Given the description of an element on the screen output the (x, y) to click on. 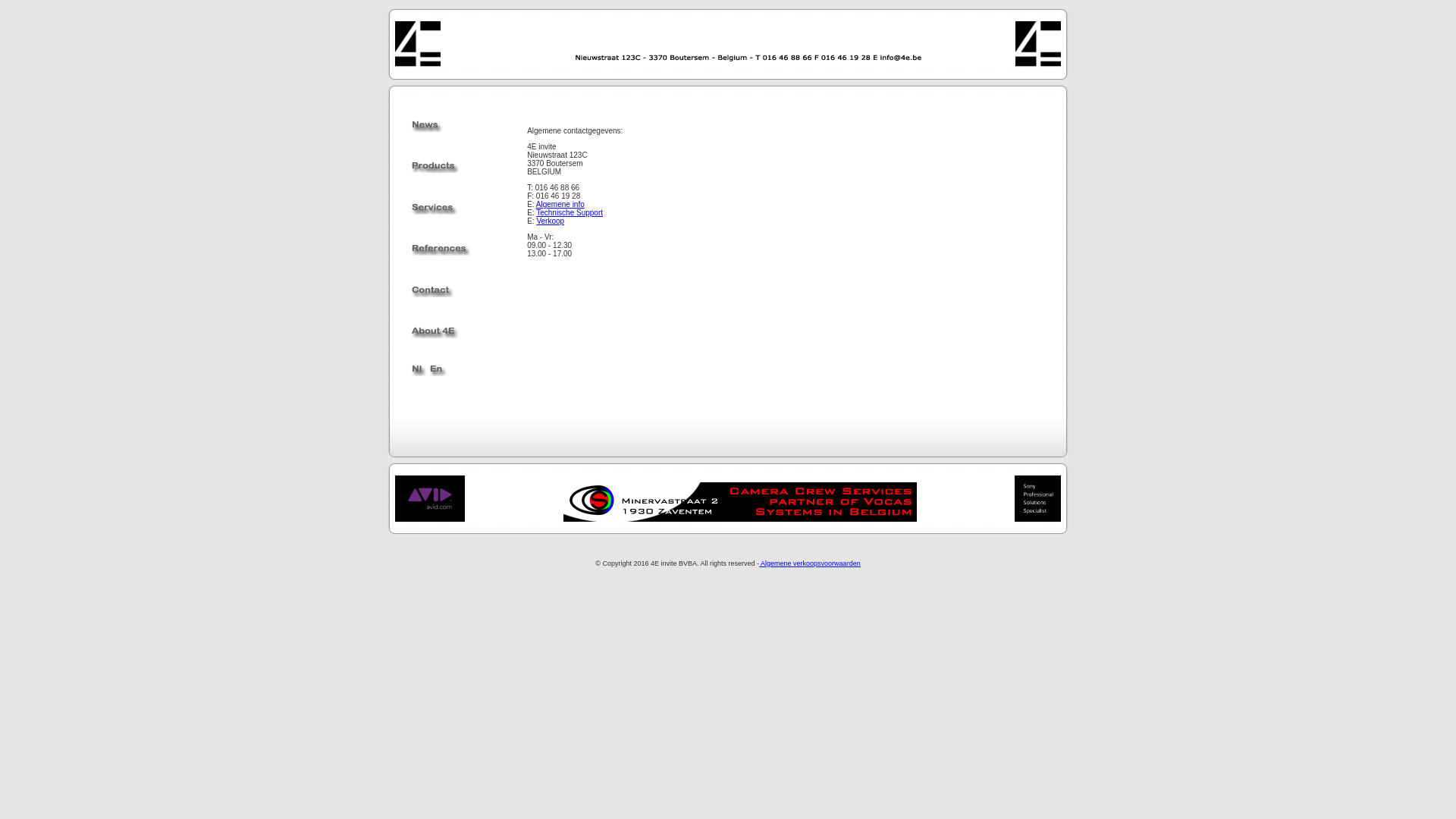
Algemene verkoopsvoorwaarden Element type: text (809, 563)
Algemene info Element type: text (560, 204)
Verkoop Element type: text (550, 220)
Technische Support Element type: text (569, 212)
